Given the description of an element on the screen output the (x, y) to click on. 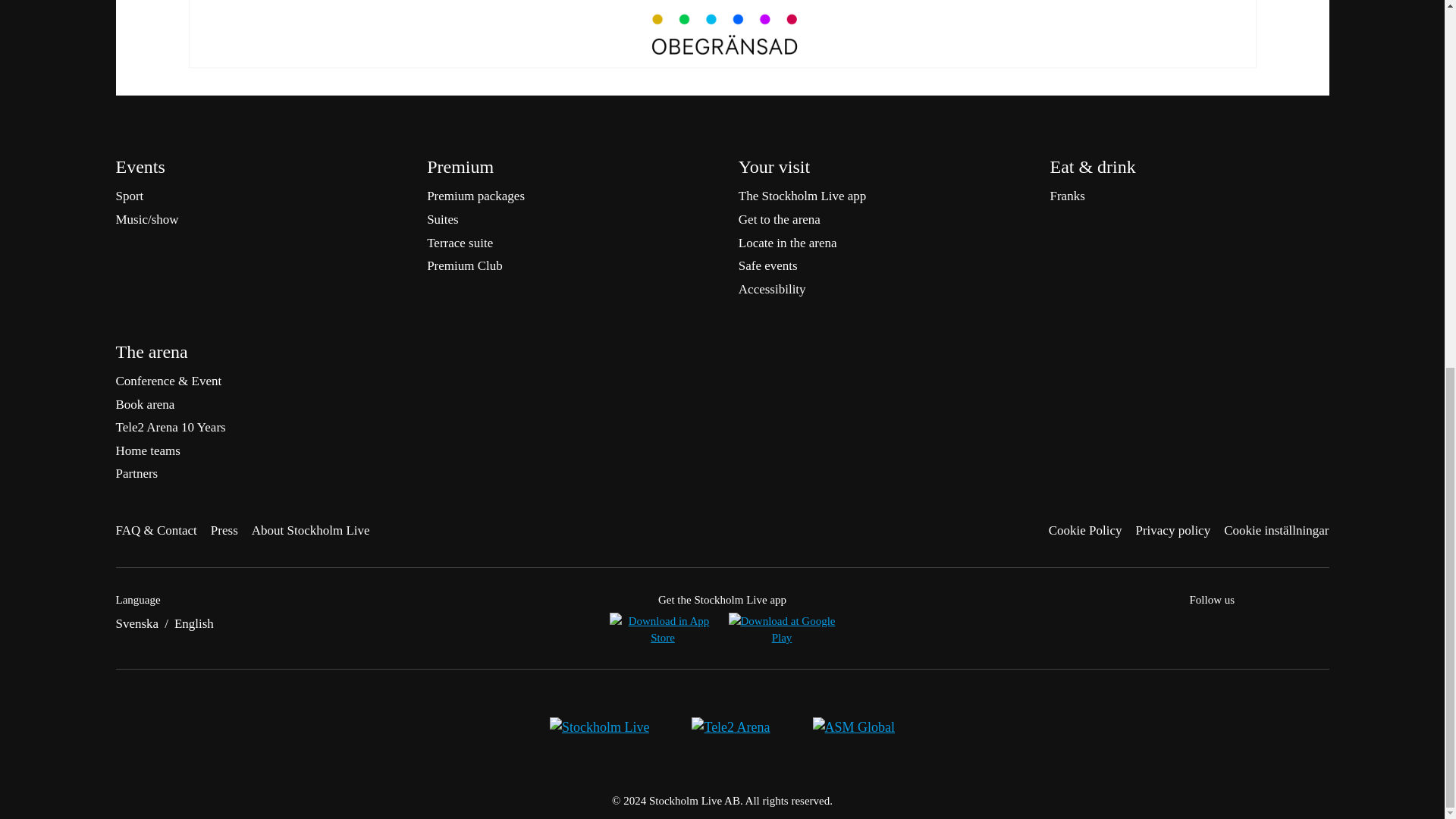
Facebook (1198, 626)
Twitter (1228, 626)
YouTube (1318, 626)
Instagram (1258, 626)
LinkedIn (1288, 626)
